Given the description of an element on the screen output the (x, y) to click on. 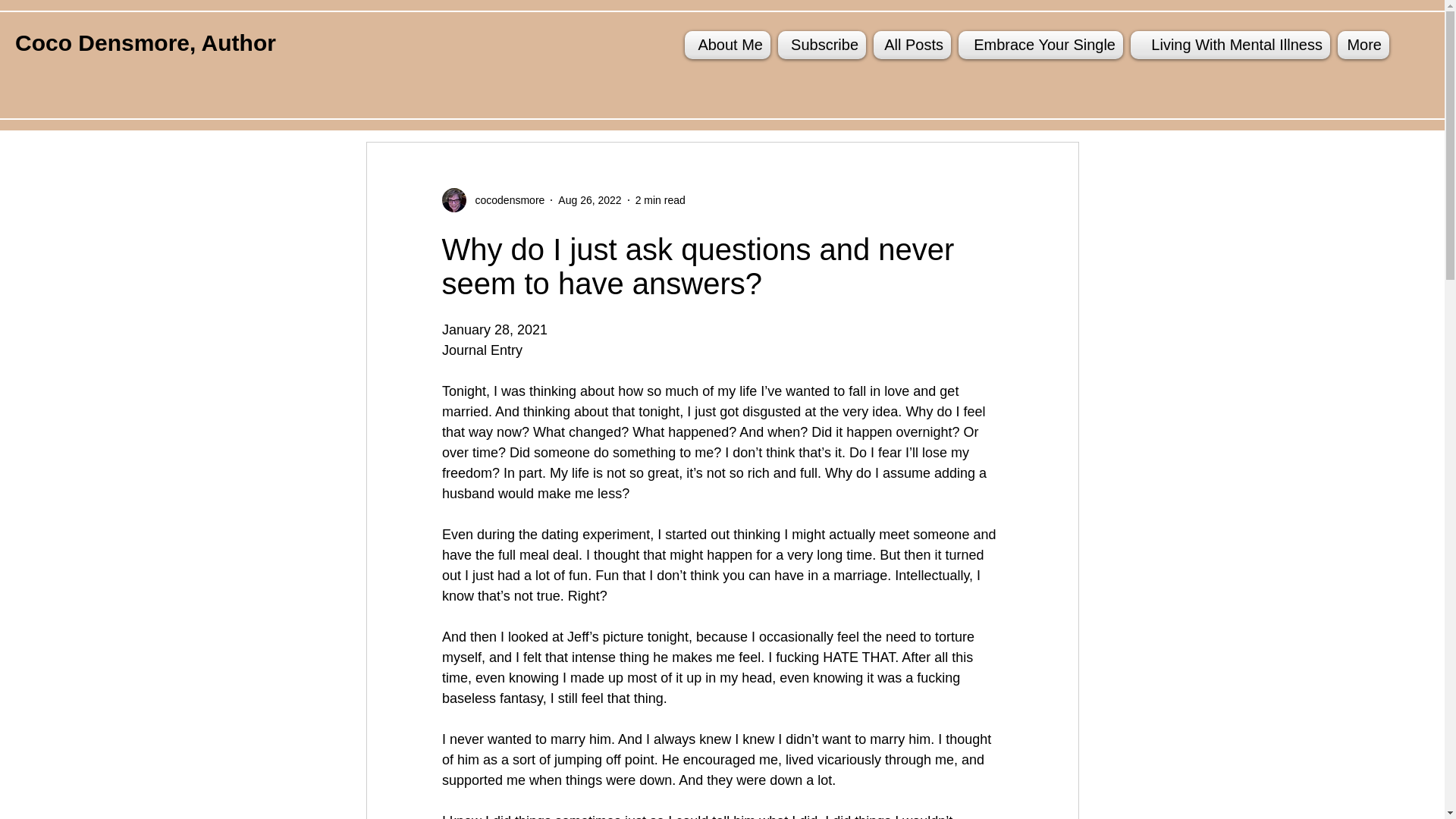
Coco Densmore, Author (145, 42)
Living With Mental Illness (1229, 44)
Aug 26, 2022 (589, 200)
Embrace Your Single (1040, 44)
All Posts (912, 44)
cocodensmore (504, 200)
2 min read (659, 200)
About Me (729, 44)
Subscribe (821, 44)
